Given the description of an element on the screen output the (x, y) to click on. 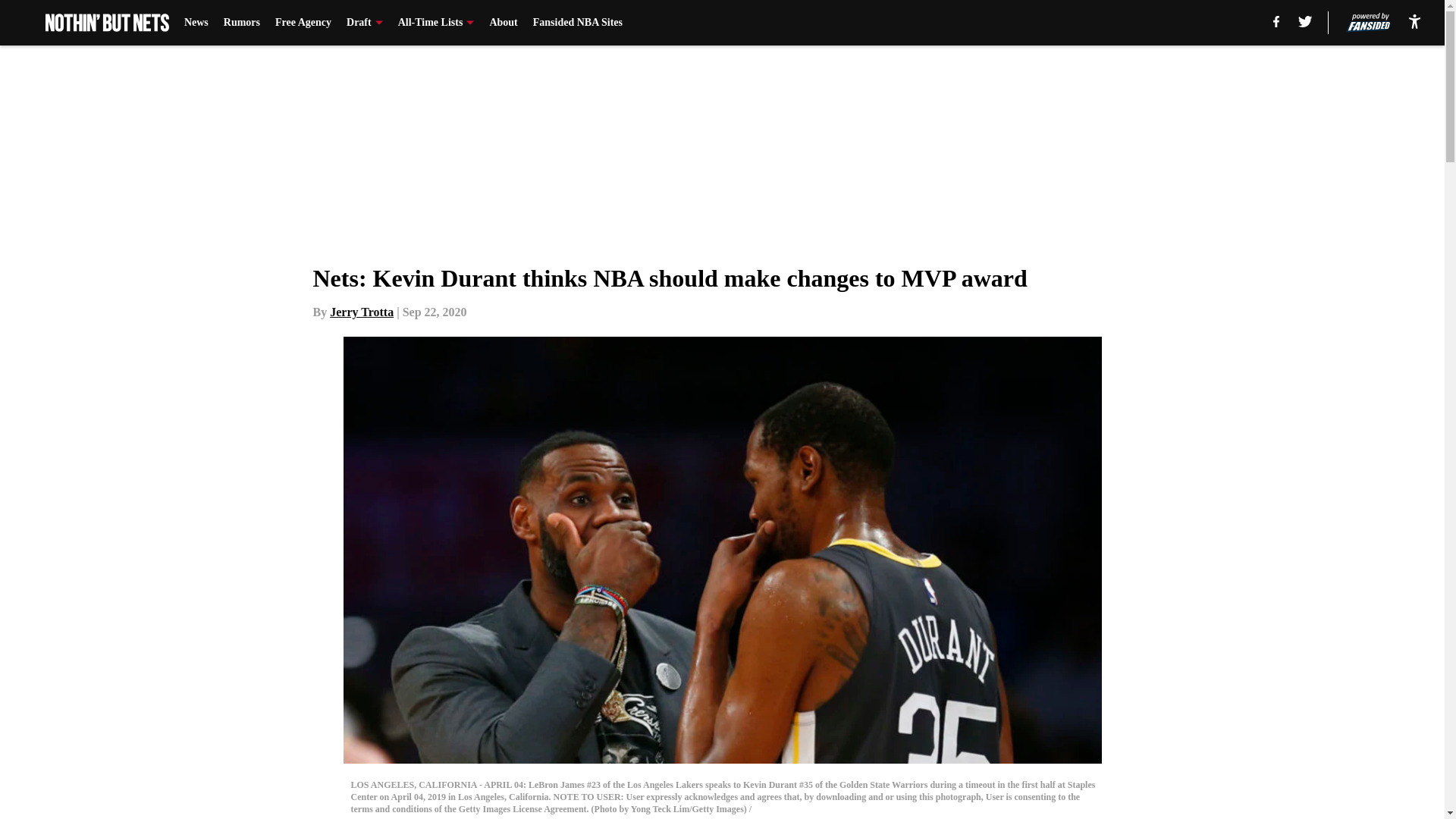
Jerry Trotta (361, 311)
Fansided NBA Sites (577, 22)
Rumors (242, 22)
Free Agency (303, 22)
News (196, 22)
About (502, 22)
